Given the description of an element on the screen output the (x, y) to click on. 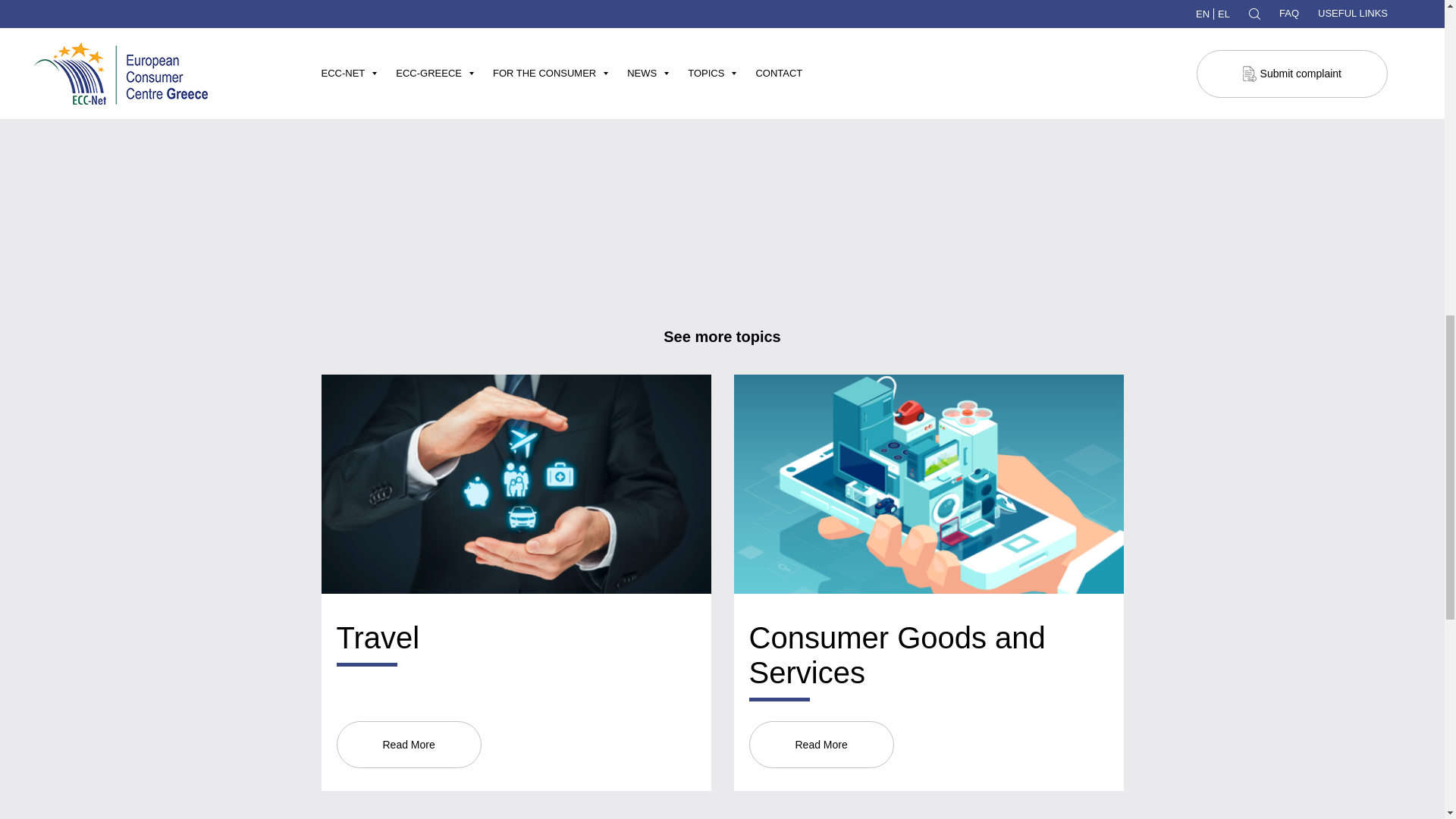
Read More (408, 744)
Information about Roaming (412, 63)
Read More (821, 744)
